Given the description of an element on the screen output the (x, y) to click on. 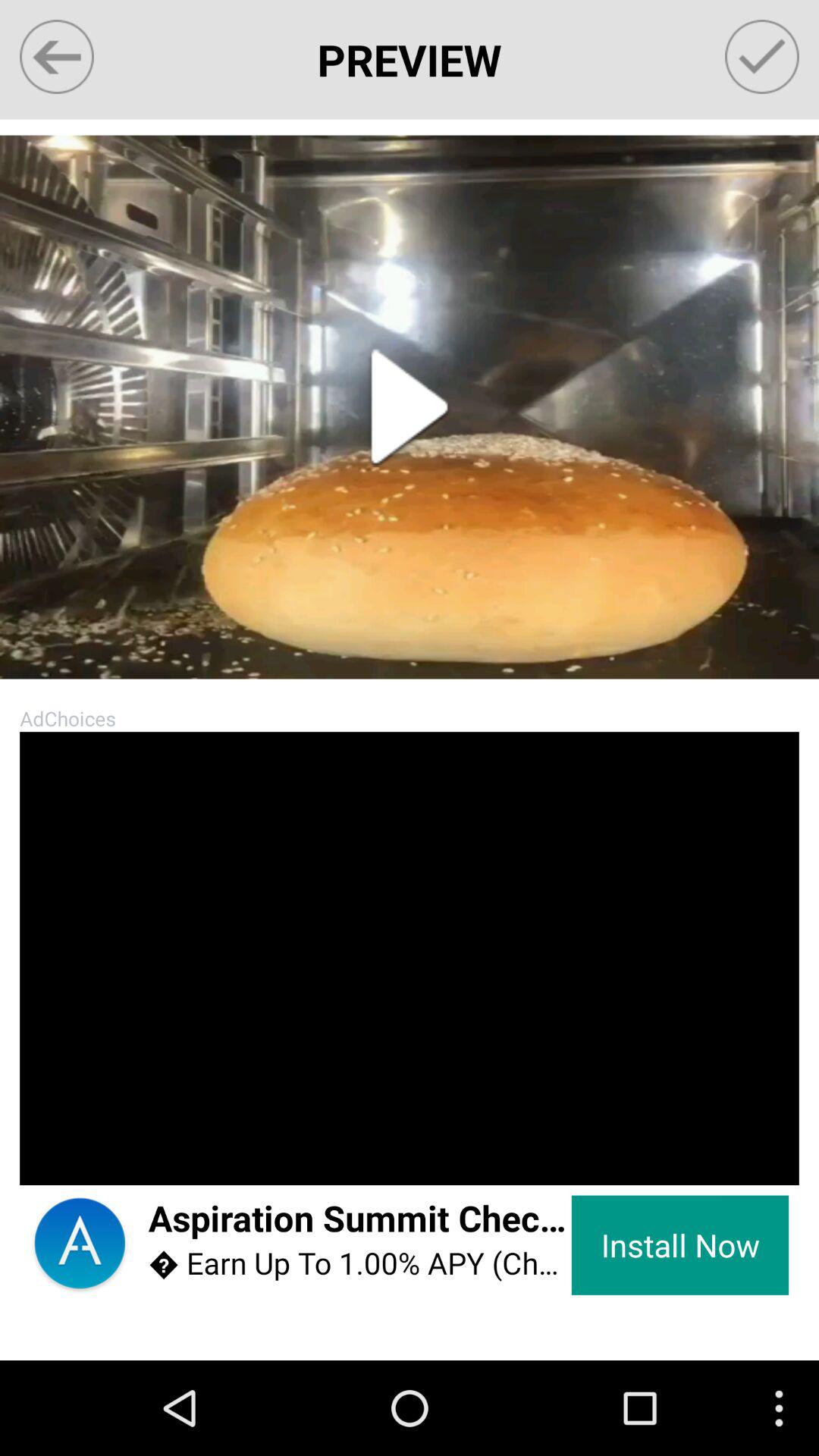
click app next to preview item (56, 56)
